Given the description of an element on the screen output the (x, y) to click on. 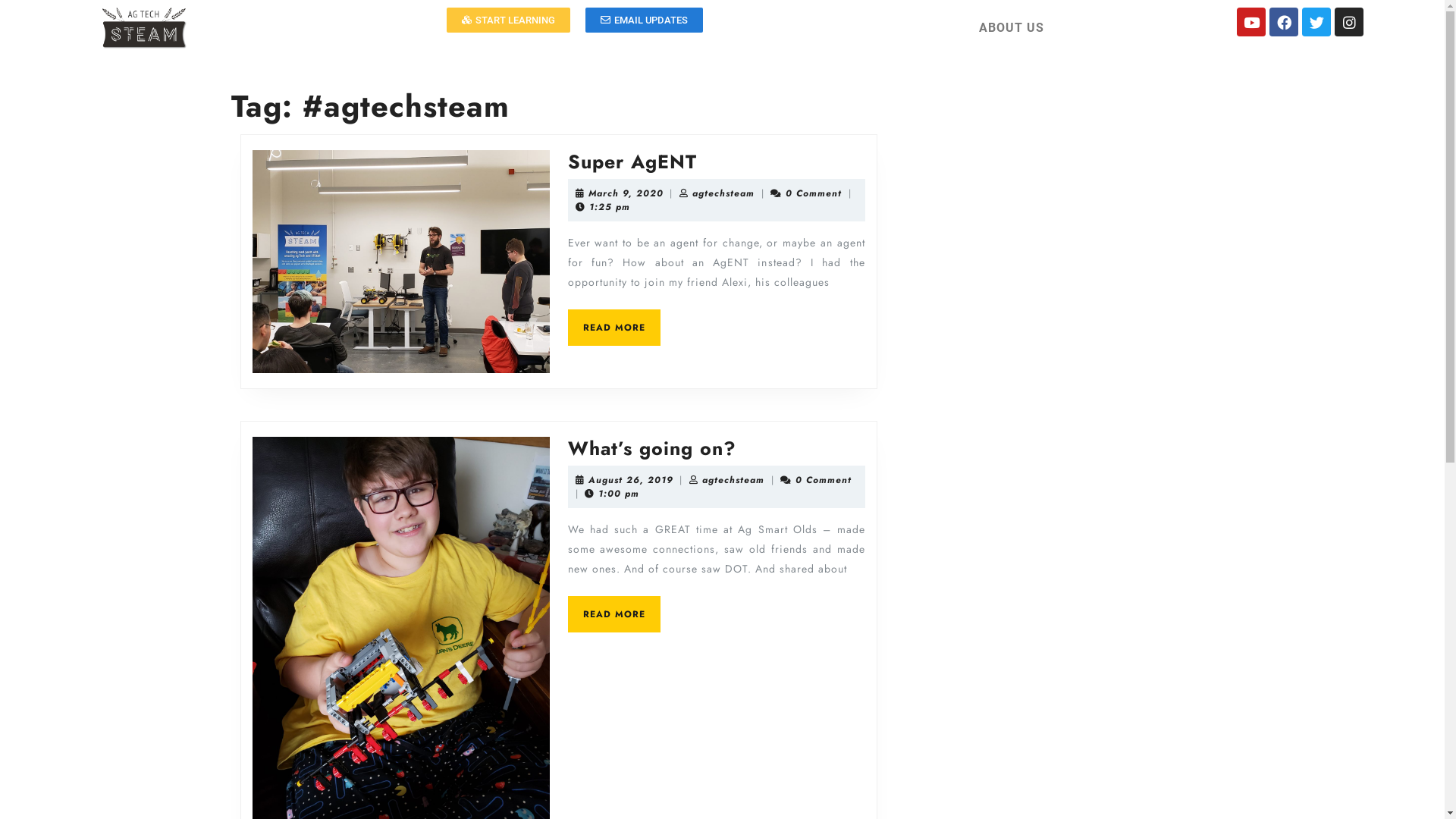
March 9, 2020 Element type: text (625, 193)
READ MORE Element type: text (613, 614)
August 26, 2019 Element type: text (630, 479)
START LEARNING Element type: text (508, 19)
Super AgENT Element type: text (631, 161)
agtechsteam Element type: text (733, 479)
agtechsteam Element type: text (723, 193)
EMAIL UPDATES Element type: text (643, 19)
READ MORE Element type: text (613, 327)
ABOUT US Element type: text (1010, 27)
